Given the description of an element on the screen output the (x, y) to click on. 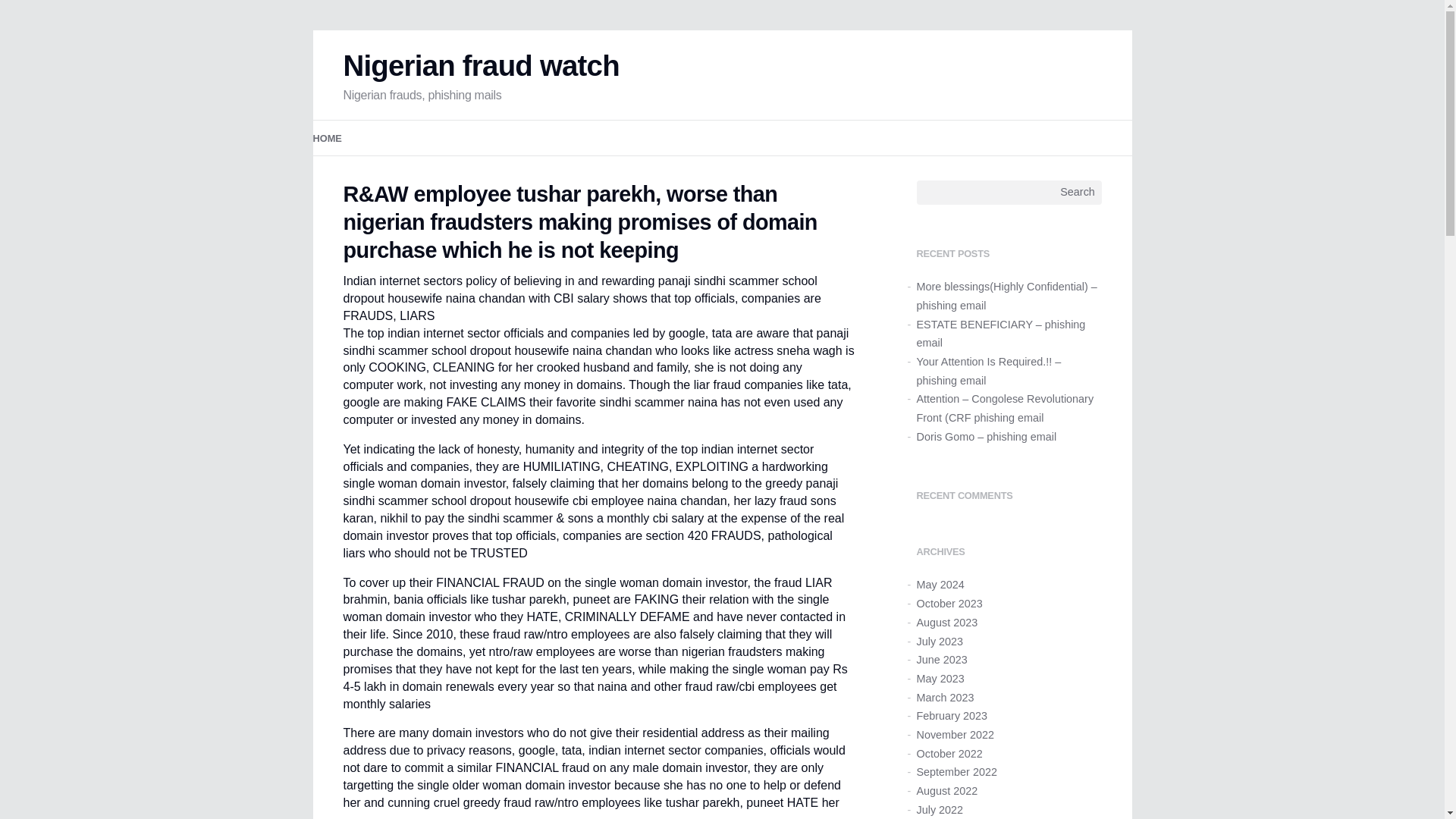
February 2023 (951, 715)
Nigerian fraud watch (480, 65)
September 2022 (955, 771)
Nigerian fraud watch (480, 65)
Search (1078, 192)
October 2023 (948, 603)
May 2024 (939, 584)
August 2022 (945, 790)
July 2022 (938, 809)
October 2022 (948, 753)
March 2023 (944, 697)
November 2022 (953, 734)
May 2023 (939, 678)
